Given the description of an element on the screen output the (x, y) to click on. 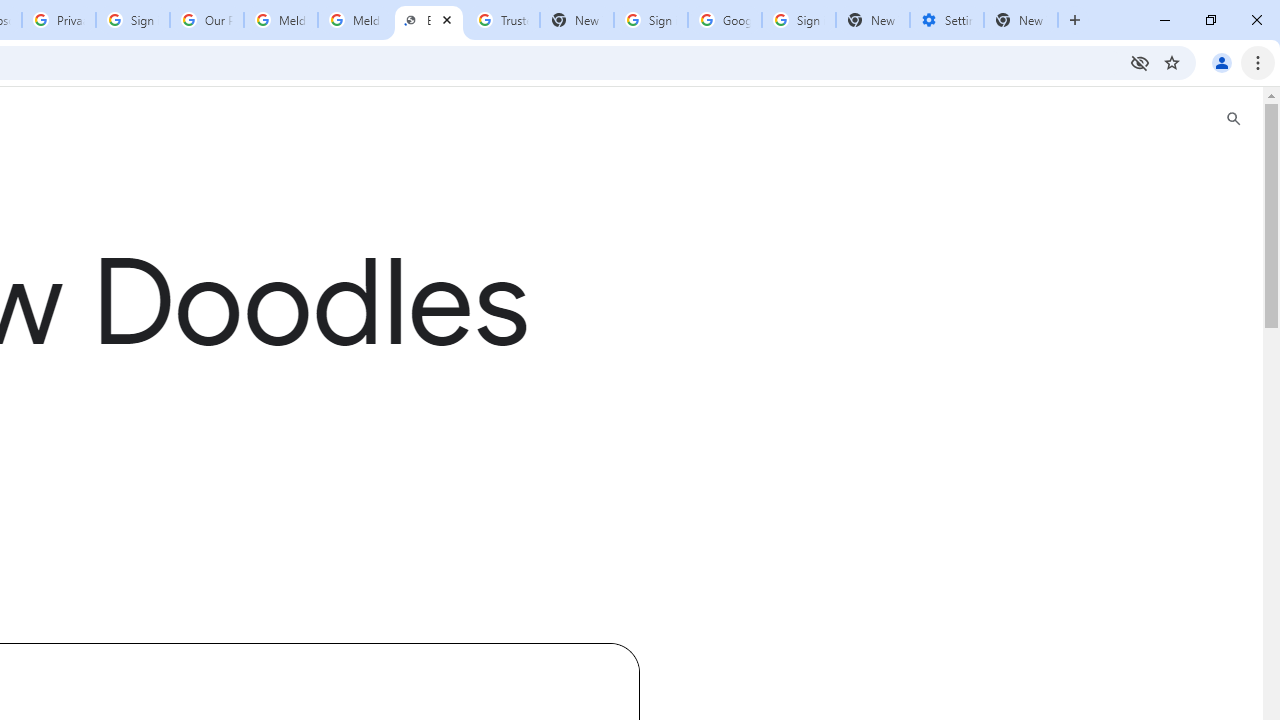
Google Cybersecurity Innovations - Google Safety Center (724, 20)
Explore the Process of Creating a Doodle - Google Doodles (428, 20)
